Given the description of an element on the screen output the (x, y) to click on. 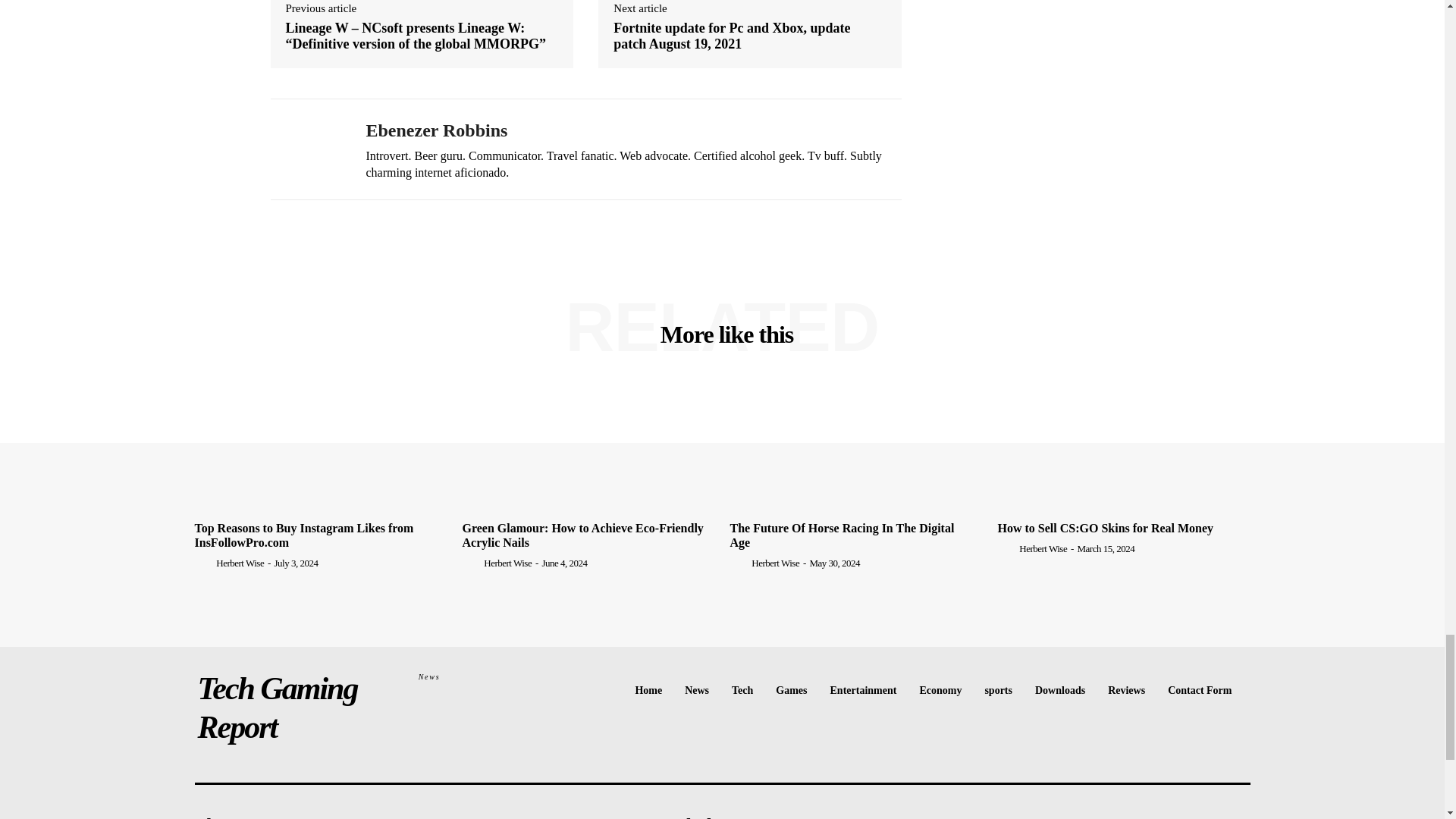
Ebenezer Robbins (305, 149)
